Given the description of an element on the screen output the (x, y) to click on. 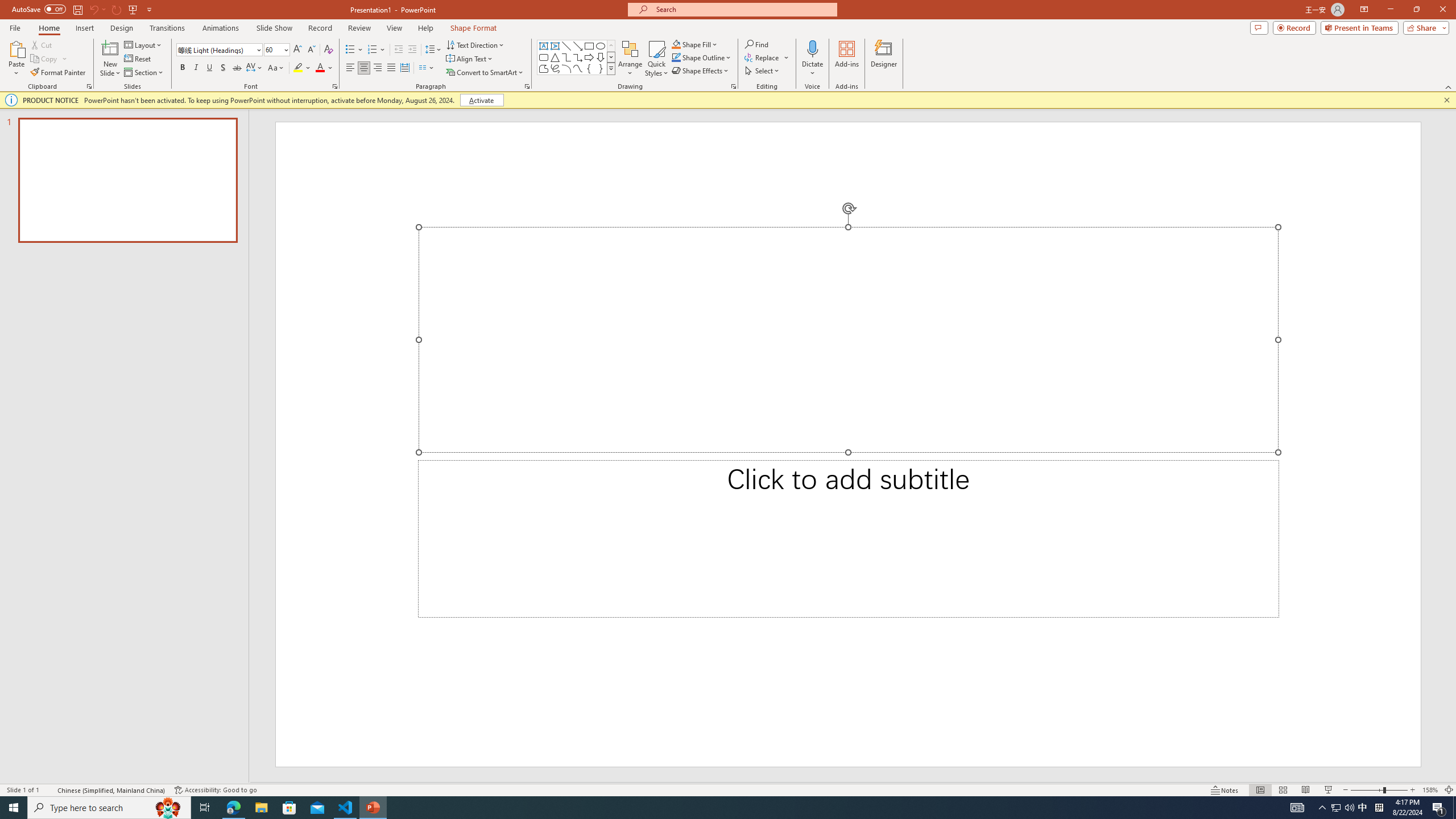
Collapse the Ribbon (1448, 86)
Zoom 158% (1430, 790)
Isosceles Triangle (554, 57)
Home (48, 28)
Numbering (372, 49)
Align Left (349, 67)
Font Color (324, 67)
Increase Indent (412, 49)
Font (219, 49)
Text Box (543, 45)
New Slide (110, 48)
Character Spacing (254, 67)
Copy (49, 58)
Accessibility Checker Accessibility: Good to go (216, 790)
Numbering (376, 49)
